Given the description of an element on the screen output the (x, y) to click on. 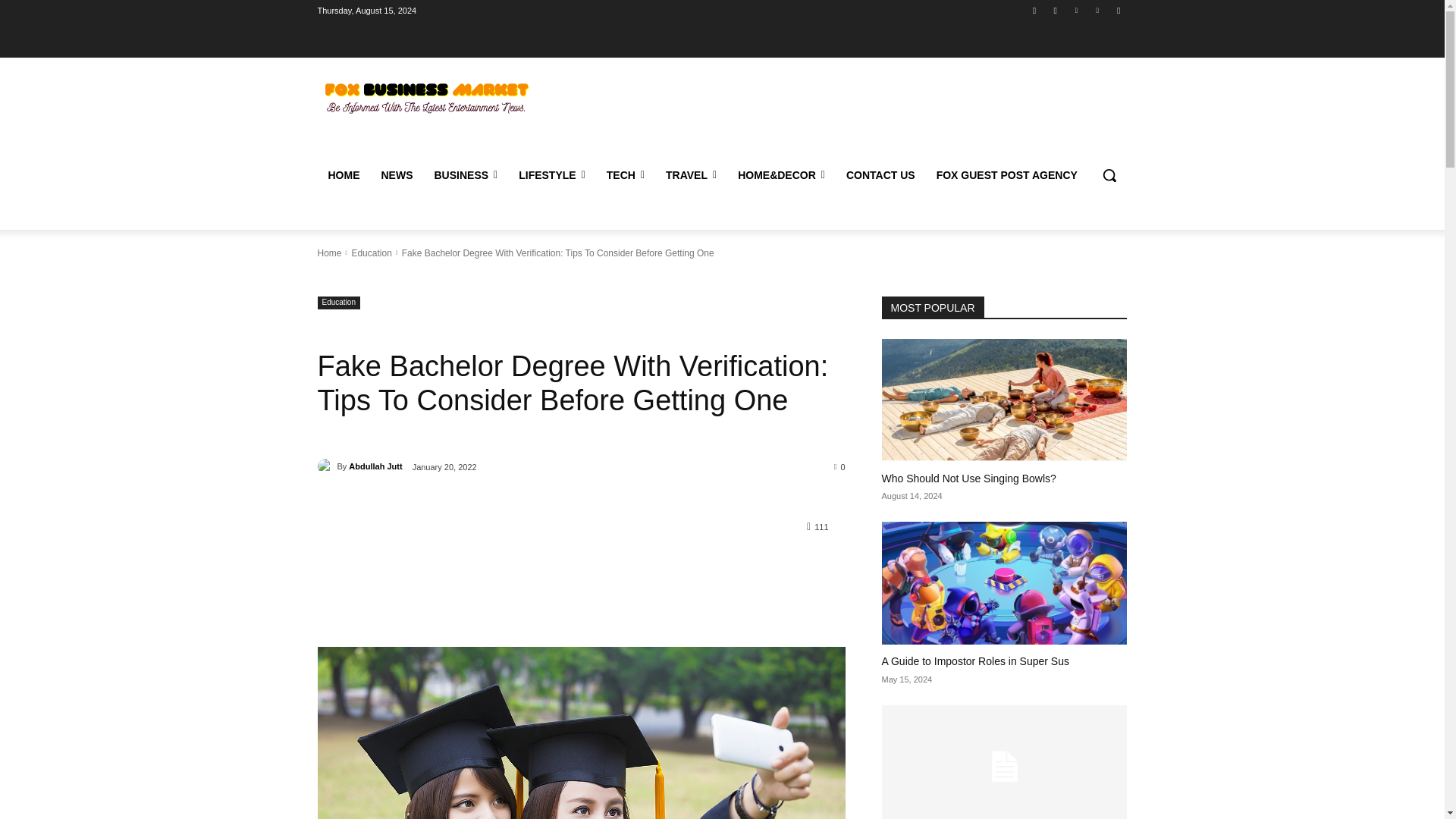
NEWS (396, 175)
TRAVEL (690, 175)
Facebook (1034, 9)
Vimeo (1097, 9)
View all posts in Education (370, 253)
LIFESTYLE (551, 175)
TECH (625, 175)
FOX GUEST POST AGENCY (1006, 175)
HOME (343, 175)
Home (328, 253)
